Given the description of an element on the screen output the (x, y) to click on. 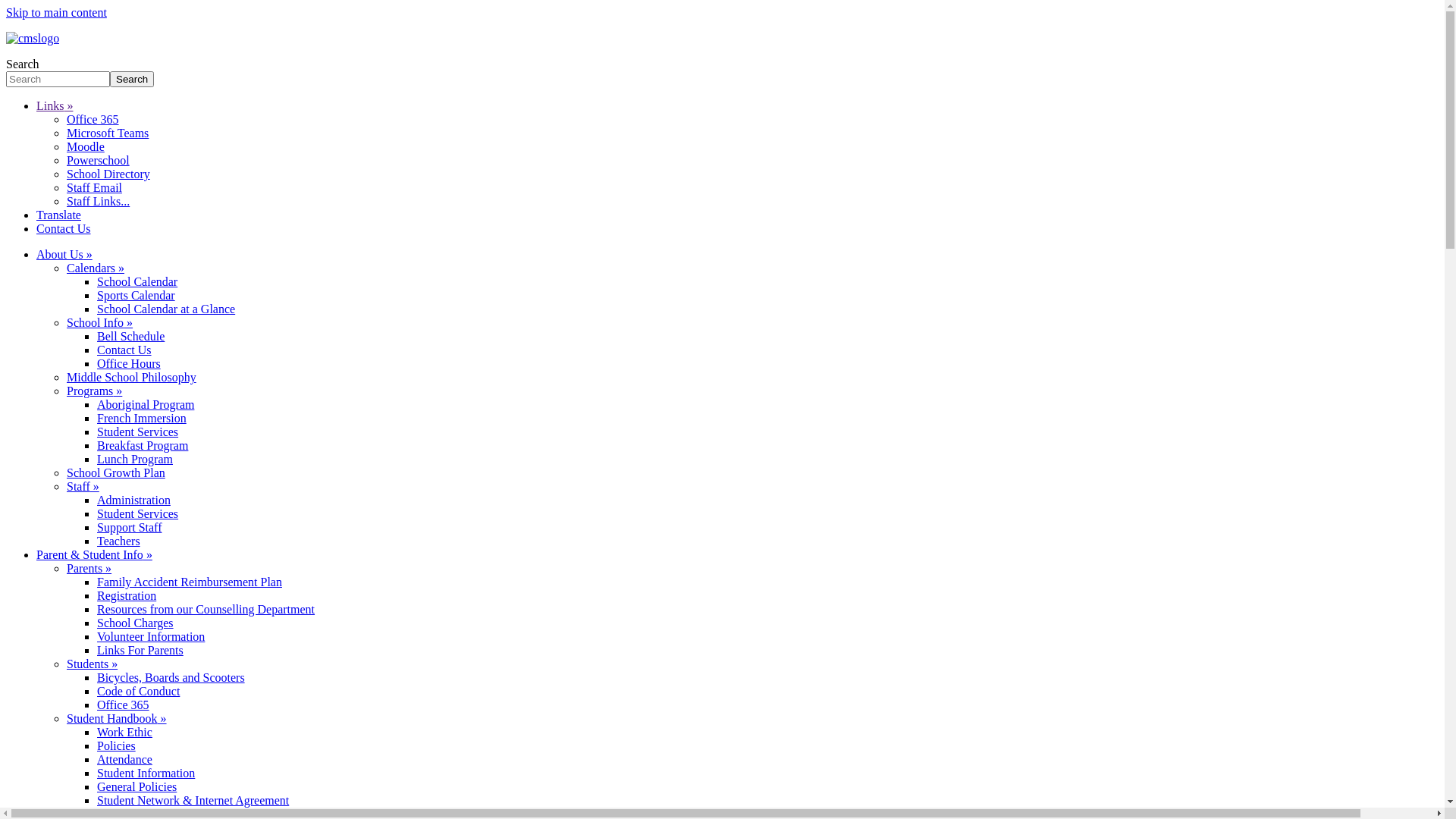
Powerschool Element type: text (97, 159)
Search Element type: text (131, 79)
Volunteer Information Element type: text (150, 636)
Office 365 Element type: text (123, 704)
Bell Schedule Element type: text (130, 335)
Work Ethic Element type: text (124, 731)
School Calendar at a Glance Element type: text (166, 308)
Breakfast Program Element type: text (142, 445)
School Charges Element type: text (135, 622)
Policies Element type: text (116, 745)
Moodle Element type: text (85, 146)
School Calendar Element type: text (137, 281)
School Growth Plan Element type: text (115, 472)
Office 365 Element type: text (92, 118)
Contact Us Element type: text (63, 228)
Lunch Program Element type: text (134, 458)
Staff Email Element type: text (94, 187)
Links For Parents Element type: text (140, 649)
Bicycles, Boards and Scooters Element type: text (170, 677)
Attendance Element type: text (124, 759)
Middle School Philosophy Element type: text (131, 376)
Skip to main content Element type: text (56, 12)
Code of Conduct Element type: text (138, 690)
Student Services Element type: text (137, 513)
Student Network & Internet Agreement Element type: text (192, 799)
Sports Calendar Element type: text (136, 294)
Support Staff Element type: text (129, 526)
Registration Element type: text (126, 595)
Aboriginal Program Element type: text (145, 404)
Teachers Element type: text (118, 540)
Student Services Element type: text (137, 431)
French Immersion Element type: text (141, 417)
Staff Links... Element type: text (97, 200)
Resources from our Counselling Department Element type: text (205, 608)
General Policies Element type: text (136, 786)
Translate Element type: text (58, 214)
Student Information Element type: text (145, 772)
Contact Us Element type: text (124, 349)
Microsoft Teams Element type: text (107, 132)
Family Accident Reimbursement Plan Element type: text (189, 581)
Enter the terms you wish to search for. Element type: hover (57, 79)
School Directory Element type: text (108, 173)
Office Hours Element type: text (128, 363)
Administration Element type: text (133, 499)
